Given the description of an element on the screen output the (x, y) to click on. 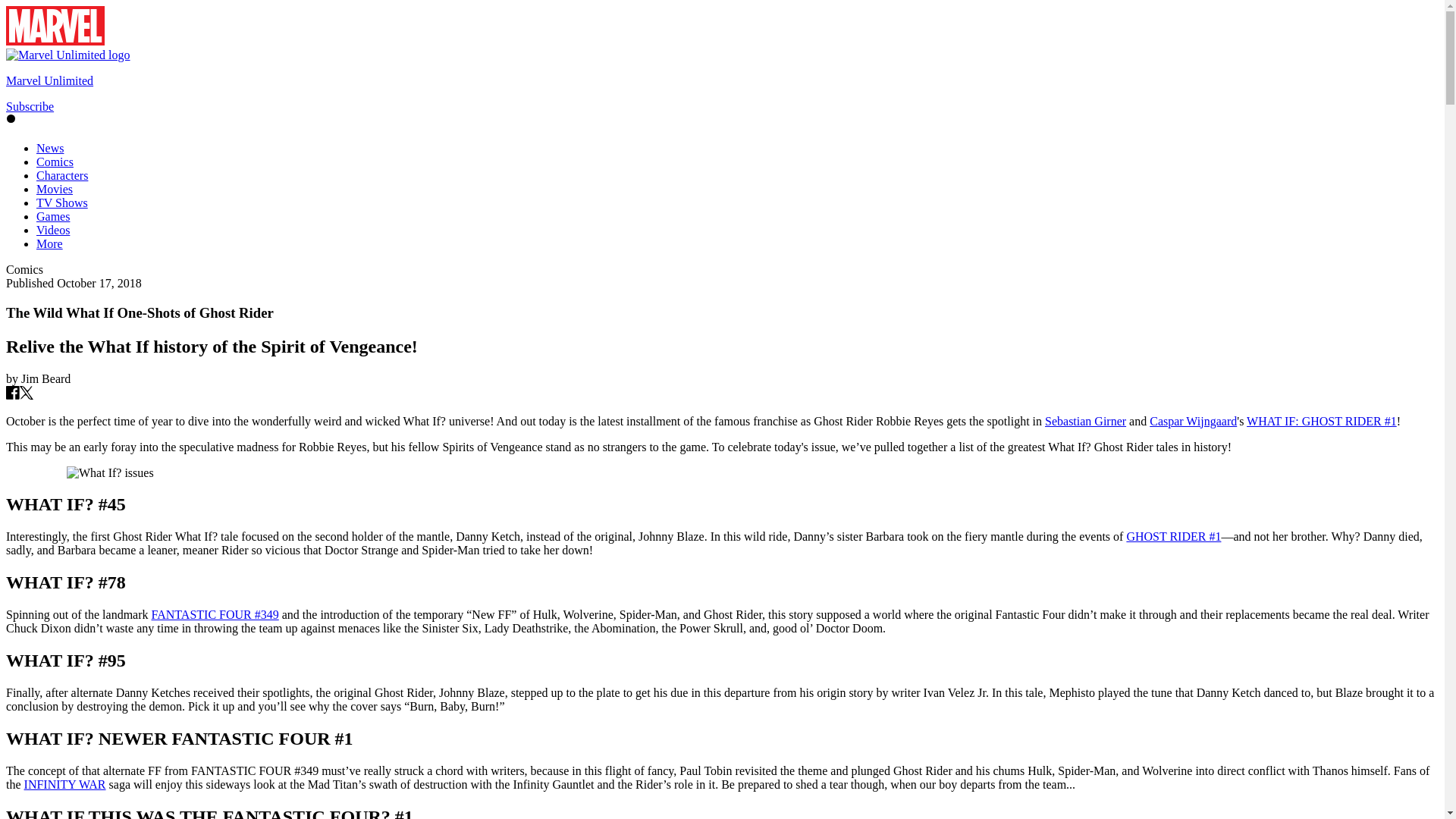
Comics (55, 161)
Movies (54, 188)
INFINITY WAR (65, 784)
Videos (52, 229)
Caspar Wijngaard (1193, 420)
Characters (61, 174)
TV Shows (61, 202)
Sebastian Girner (1085, 420)
News (50, 147)
Games (52, 215)
